Given the description of an element on the screen output the (x, y) to click on. 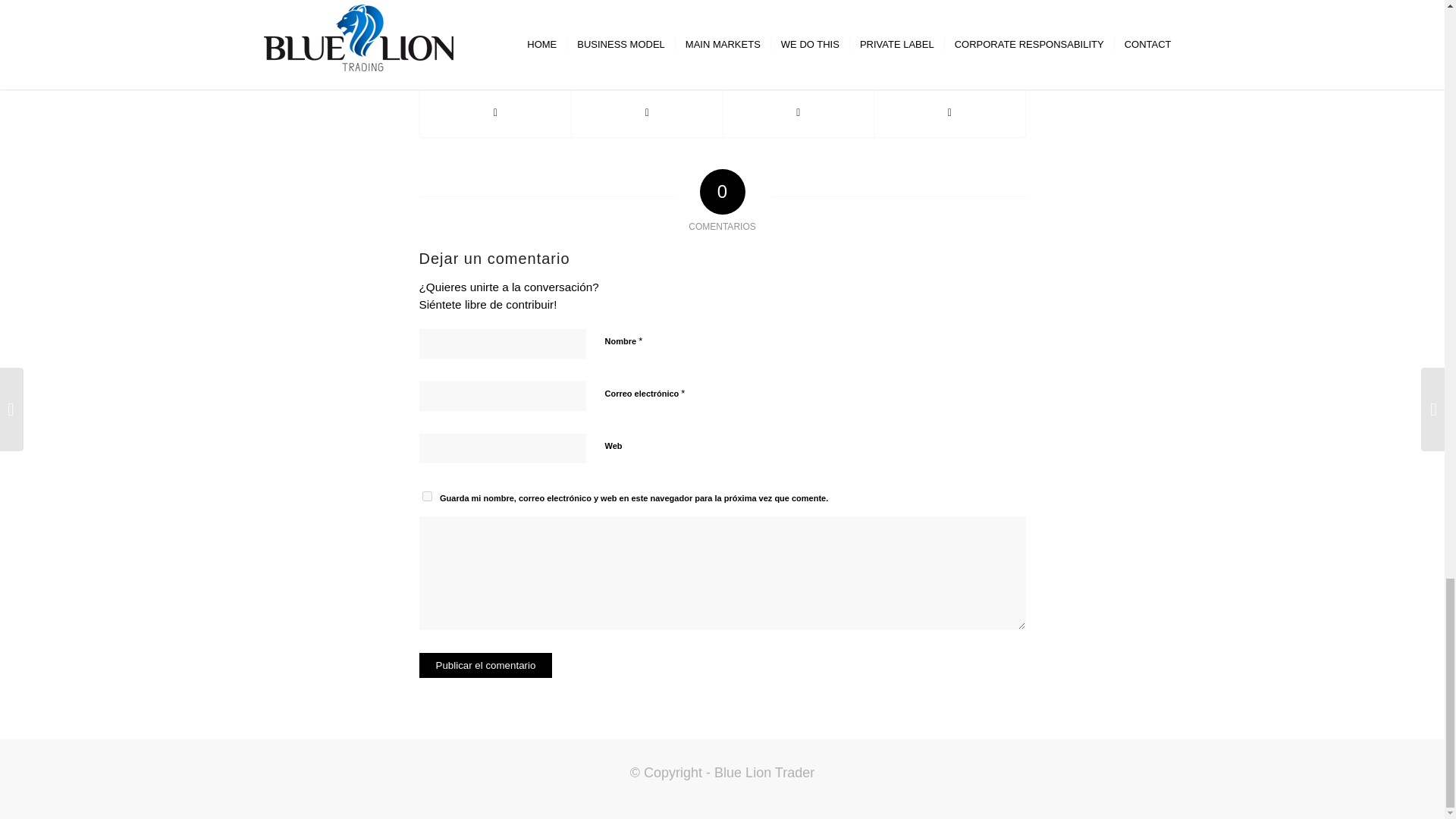
0 COMENTARIOS (737, 7)
Entradas de maxi (852, 7)
Publicar el comentario (485, 665)
Publicar el comentario (485, 665)
MAXI (852, 7)
yes (426, 496)
